Given the description of an element on the screen output the (x, y) to click on. 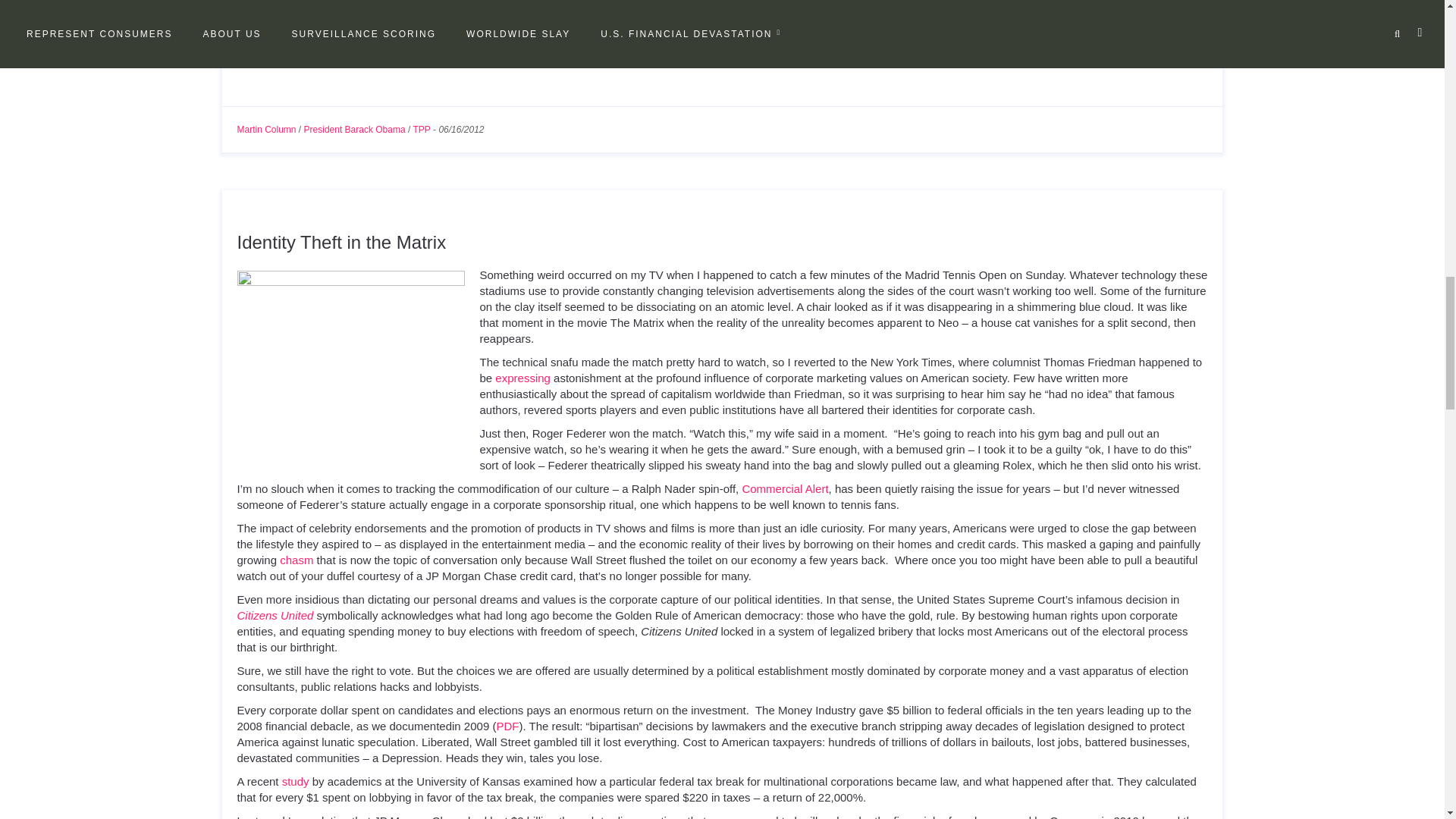
thematrix (349, 356)
Identity Theft in the Matrix (340, 241)
Commercial Alert (784, 488)
study (295, 780)
President Barack Obama (355, 129)
congressional representative (604, 28)
TPP (420, 129)
PDF (507, 725)
chasm (296, 559)
expressing (522, 377)
Citizens United (274, 615)
Martin Column (265, 129)
